Given the description of an element on the screen output the (x, y) to click on. 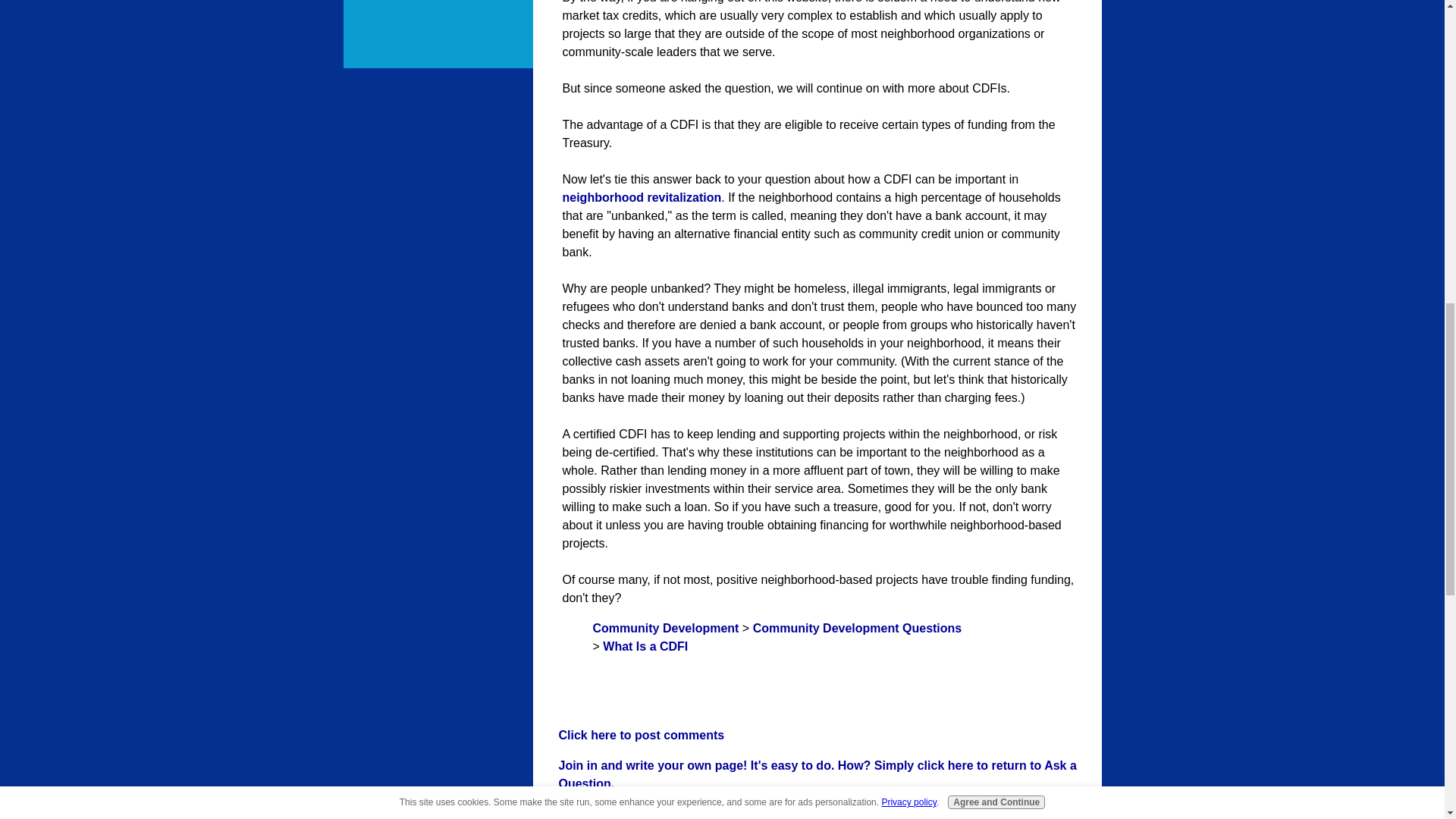
neighborhood revitalization (642, 196)
Community Development Questions (857, 627)
Click here to post comments (640, 735)
What Is a CDFI (644, 645)
Community Development (665, 627)
